Given the description of an element on the screen output the (x, y) to click on. 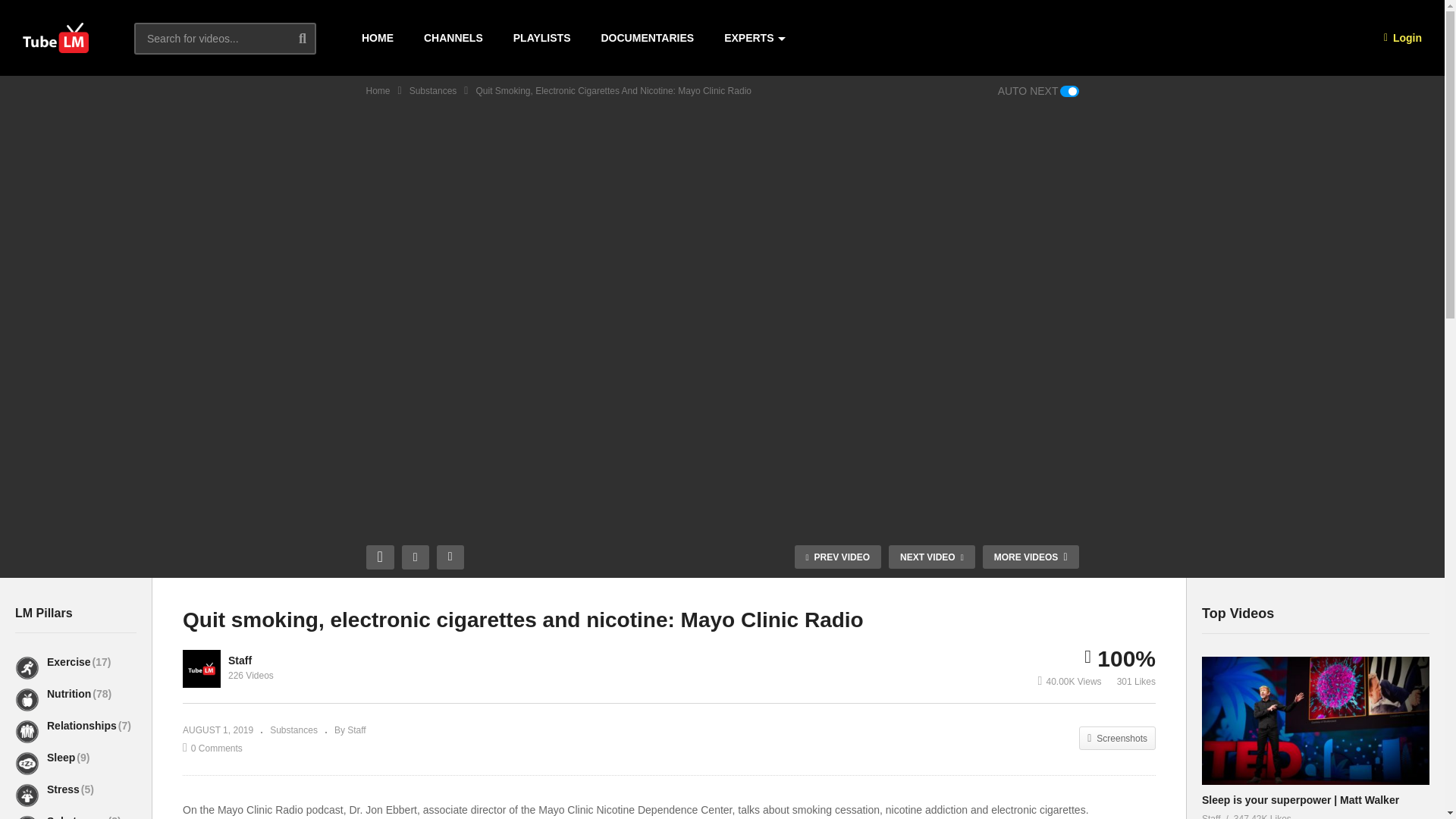
SEARCH (314, 37)
PREV VIDEO (837, 557)
TubeLM (55, 37)
EXPERTS (754, 38)
MORE VIDEOS (1030, 557)
CHANNELS (453, 38)
PLAYLISTS (541, 38)
 Login (1402, 38)
Home (377, 90)
NEXT VIDEO (931, 557)
DOCUMENTARIES (647, 38)
SEARCH (314, 37)
Substances (433, 90)
